Given the description of an element on the screen output the (x, y) to click on. 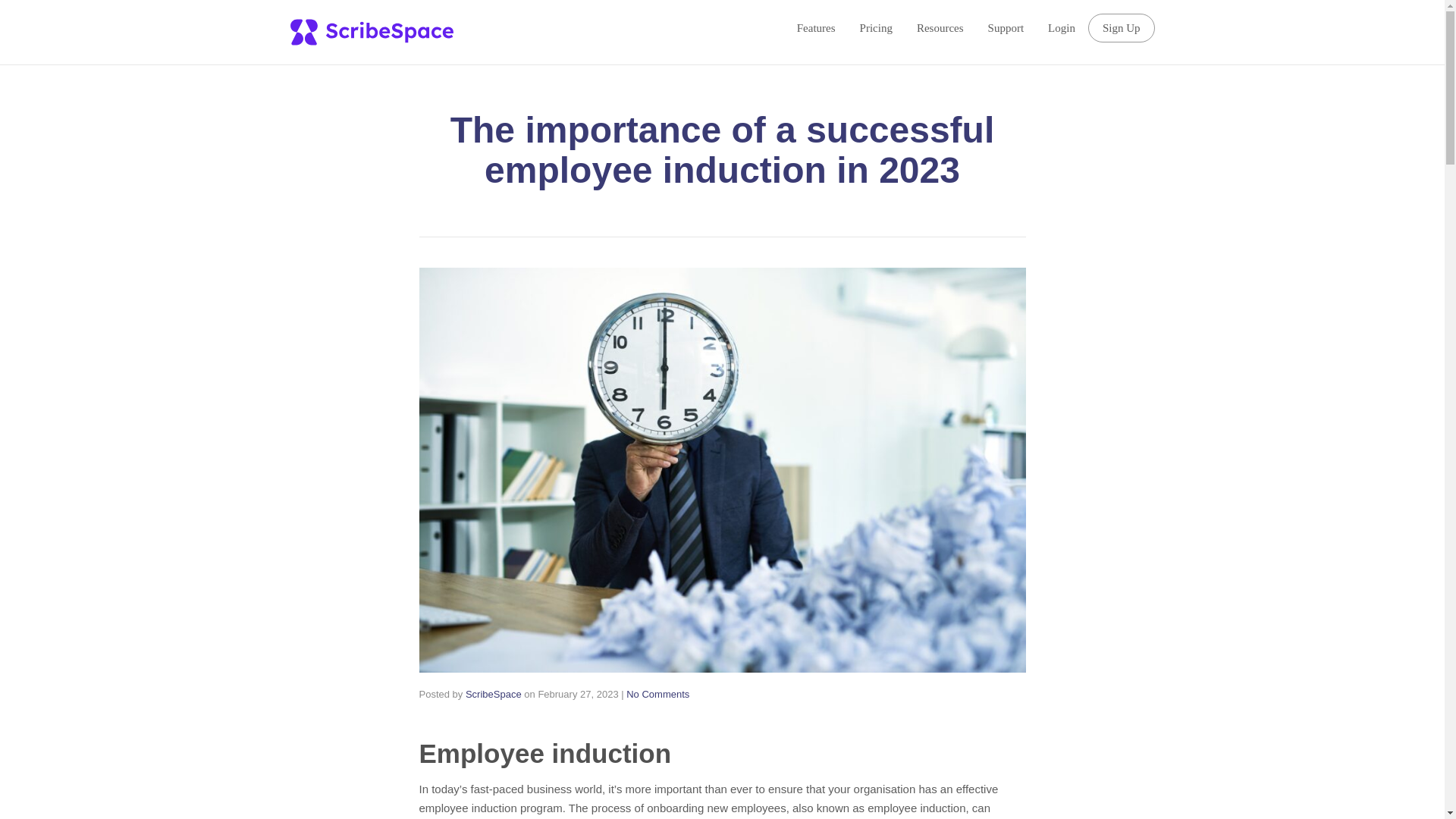
ScribeSpace (493, 694)
Features (815, 27)
Sign Up (1121, 28)
Posts by ScribeSpace (493, 694)
Support (1006, 27)
No Comments (657, 694)
Resources (940, 27)
